Given the description of an element on the screen output the (x, y) to click on. 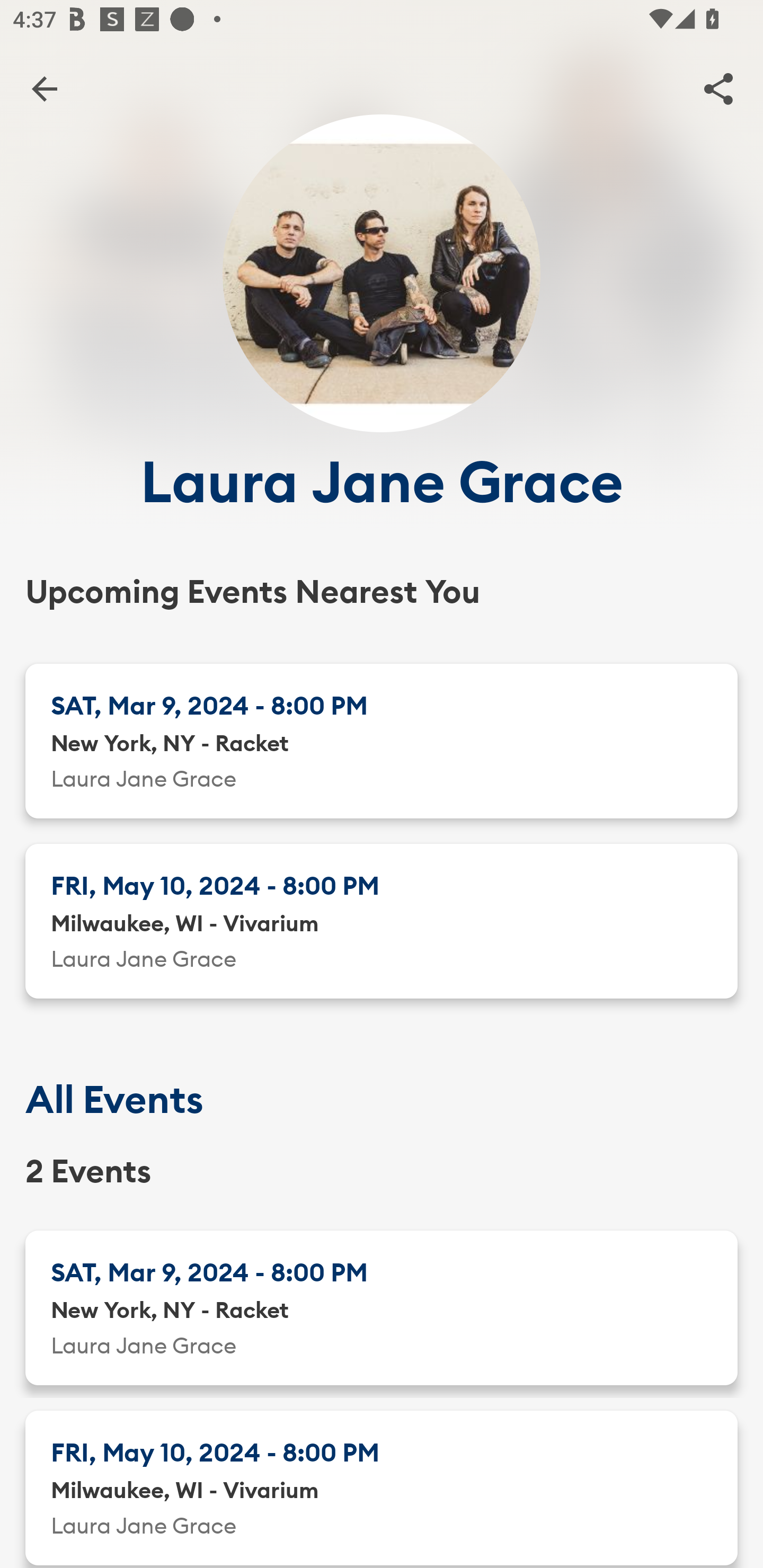
BackButton (44, 88)
Share (718, 88)
